Given the description of an element on the screen output the (x, y) to click on. 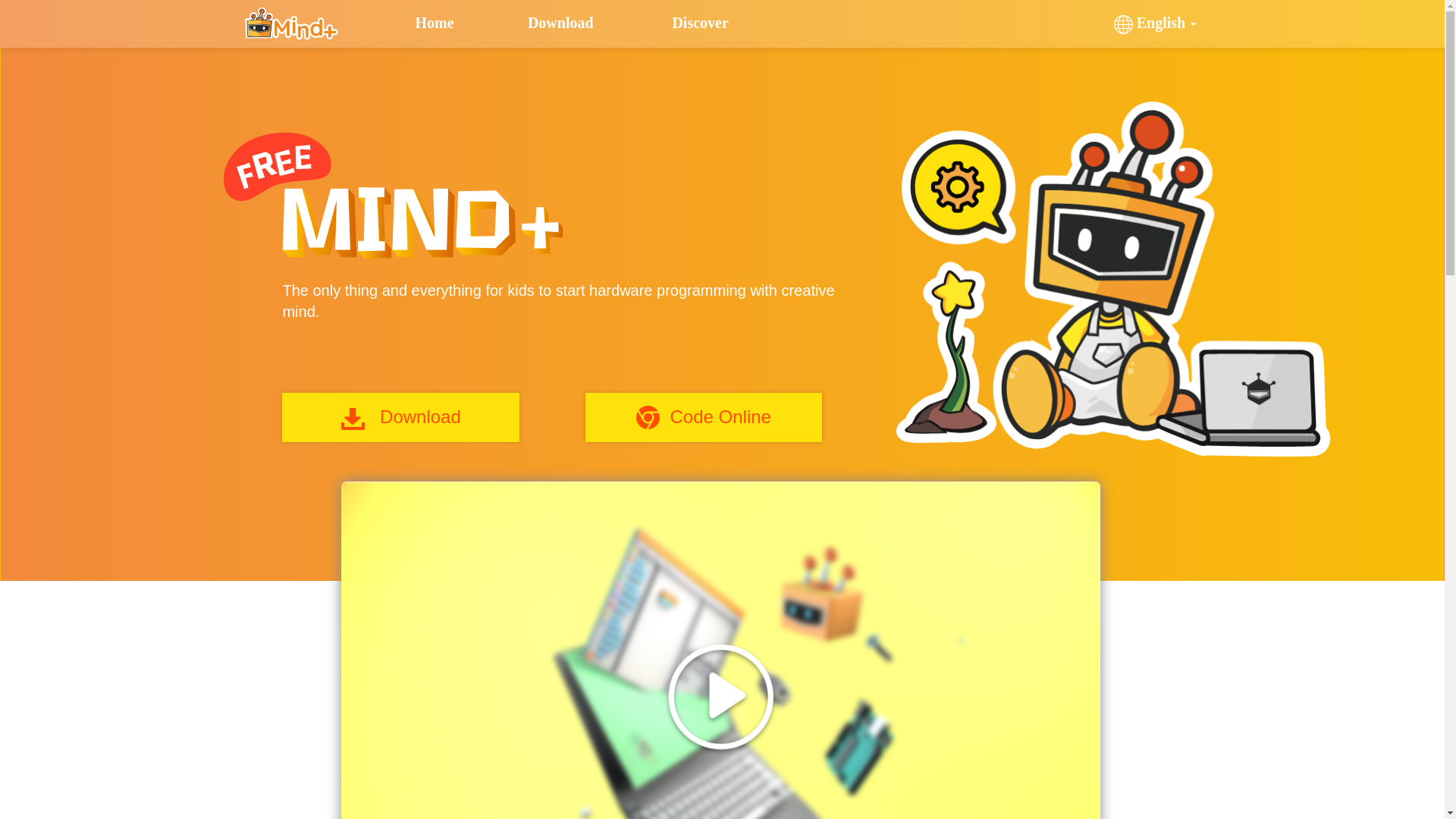
Download Element type: text (570, 23)
English Element type: text (1154, 23)
Download Element type: text (401, 416)
Home Element type: text (457, 23)
Discover Element type: text (714, 23)
Code Online Element type: text (703, 416)
